Given the description of an element on the screen output the (x, y) to click on. 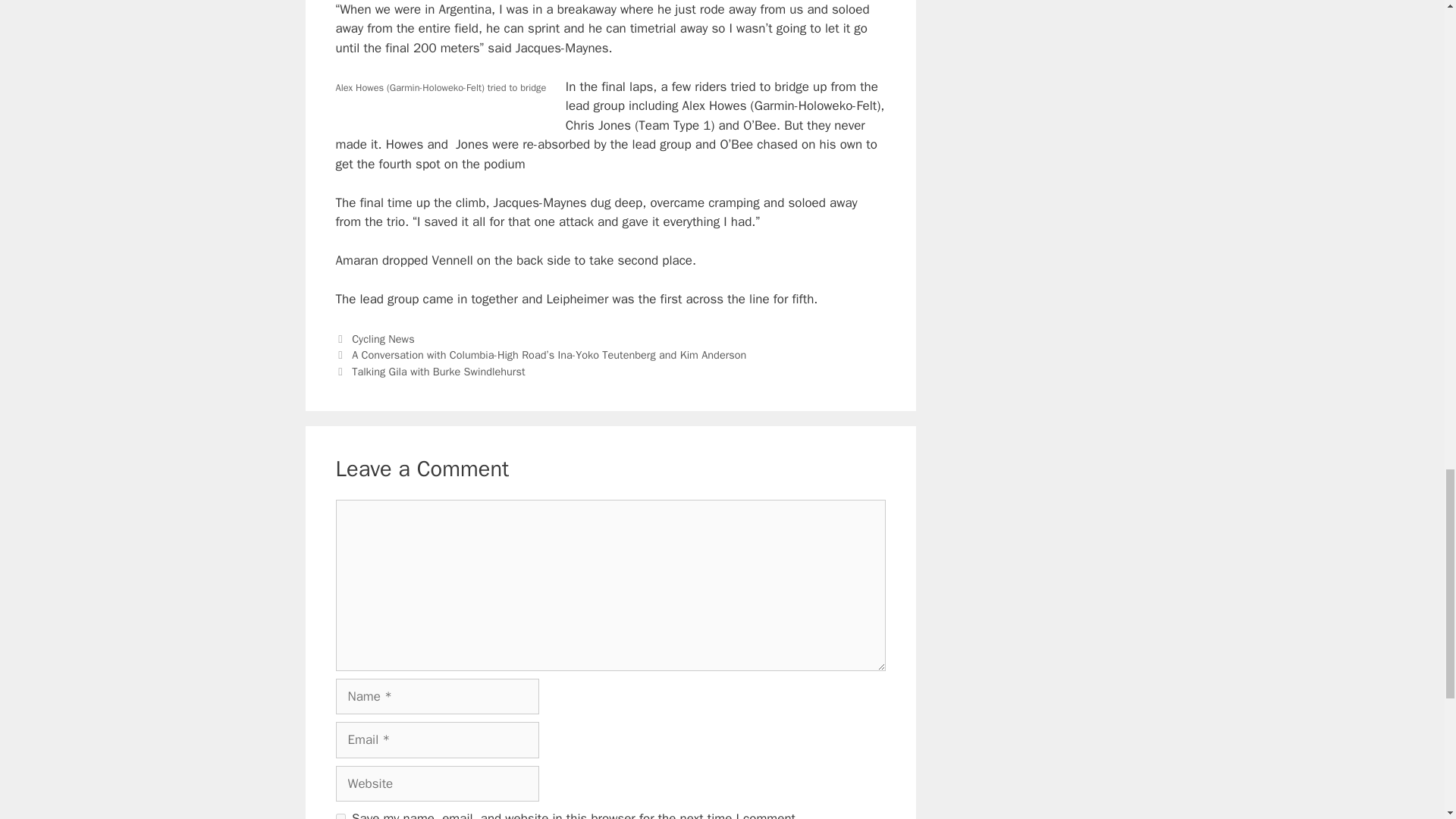
Cycling News (382, 338)
yes (339, 816)
Talking Gila with Burke Swindlehurst (438, 371)
